Given the description of an element on the screen output the (x, y) to click on. 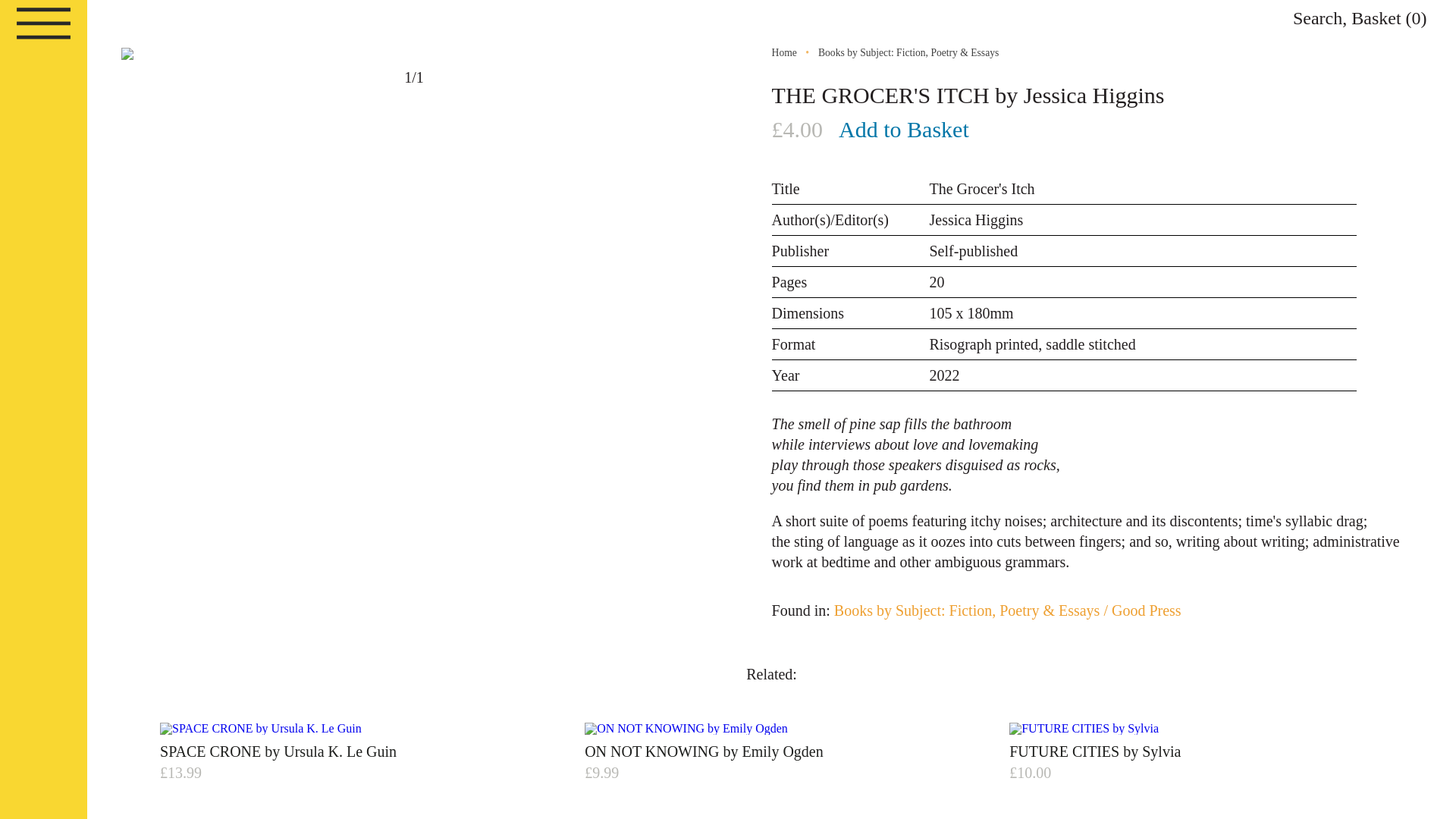
Home (783, 52)
Add to Basket (904, 129)
Add to Basket (904, 129)
Search (1317, 17)
